Given the description of an element on the screen output the (x, y) to click on. 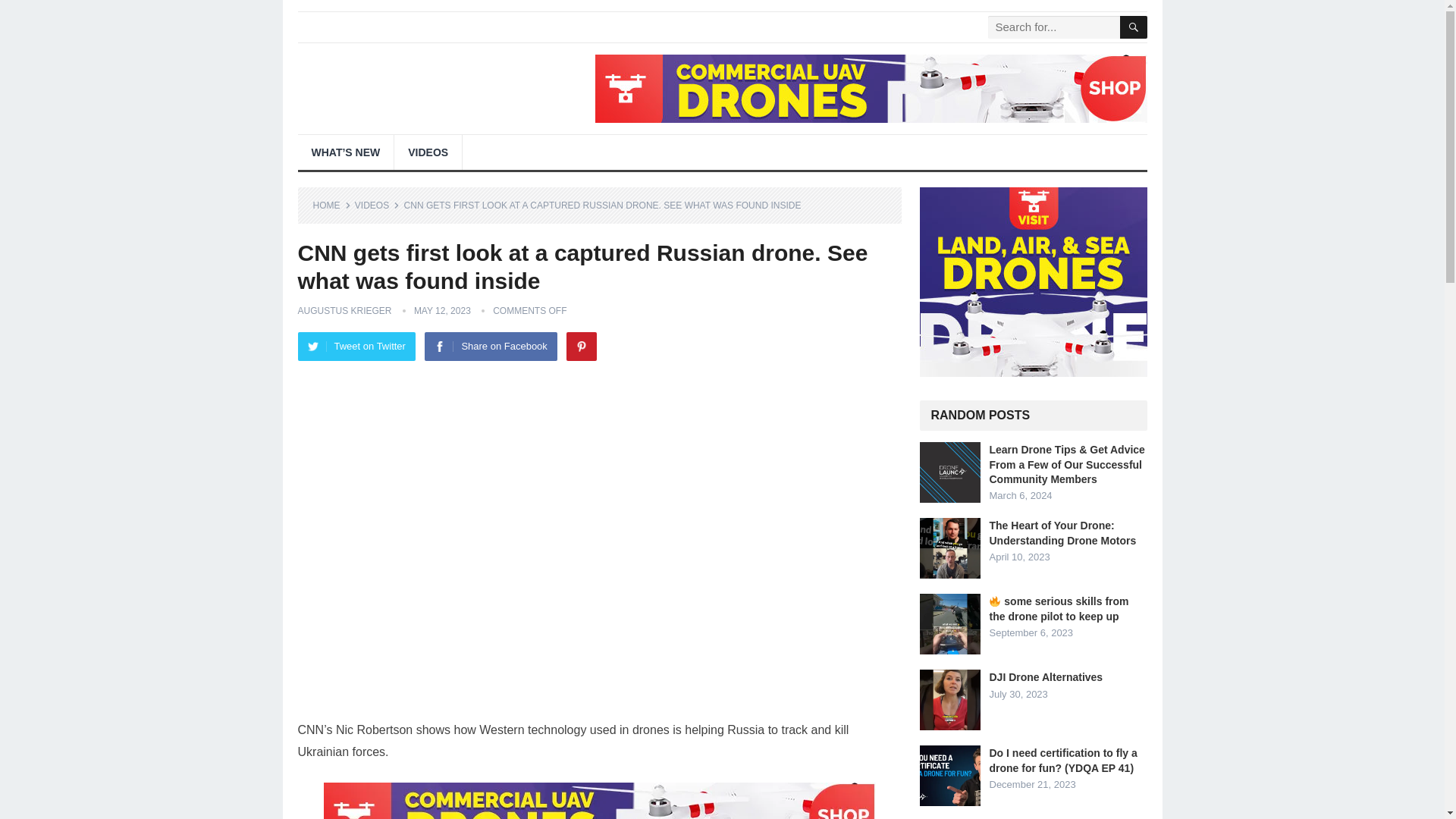
The Heart of Your Drone: Understanding Drone Motors 14 (948, 547)
Tweet on Twitter (355, 346)
HOME (331, 204)
VIDEOS (427, 152)
AUGUSTUS KRIEGER (344, 310)
Pinterest (581, 346)
Posts by Augustus Krieger (344, 310)
View all posts in Videos (376, 204)
DJI Drone Alternatives 16 (948, 699)
VIDEOS (376, 204)
Share on Facebook (490, 346)
